Given the description of an element on the screen output the (x, y) to click on. 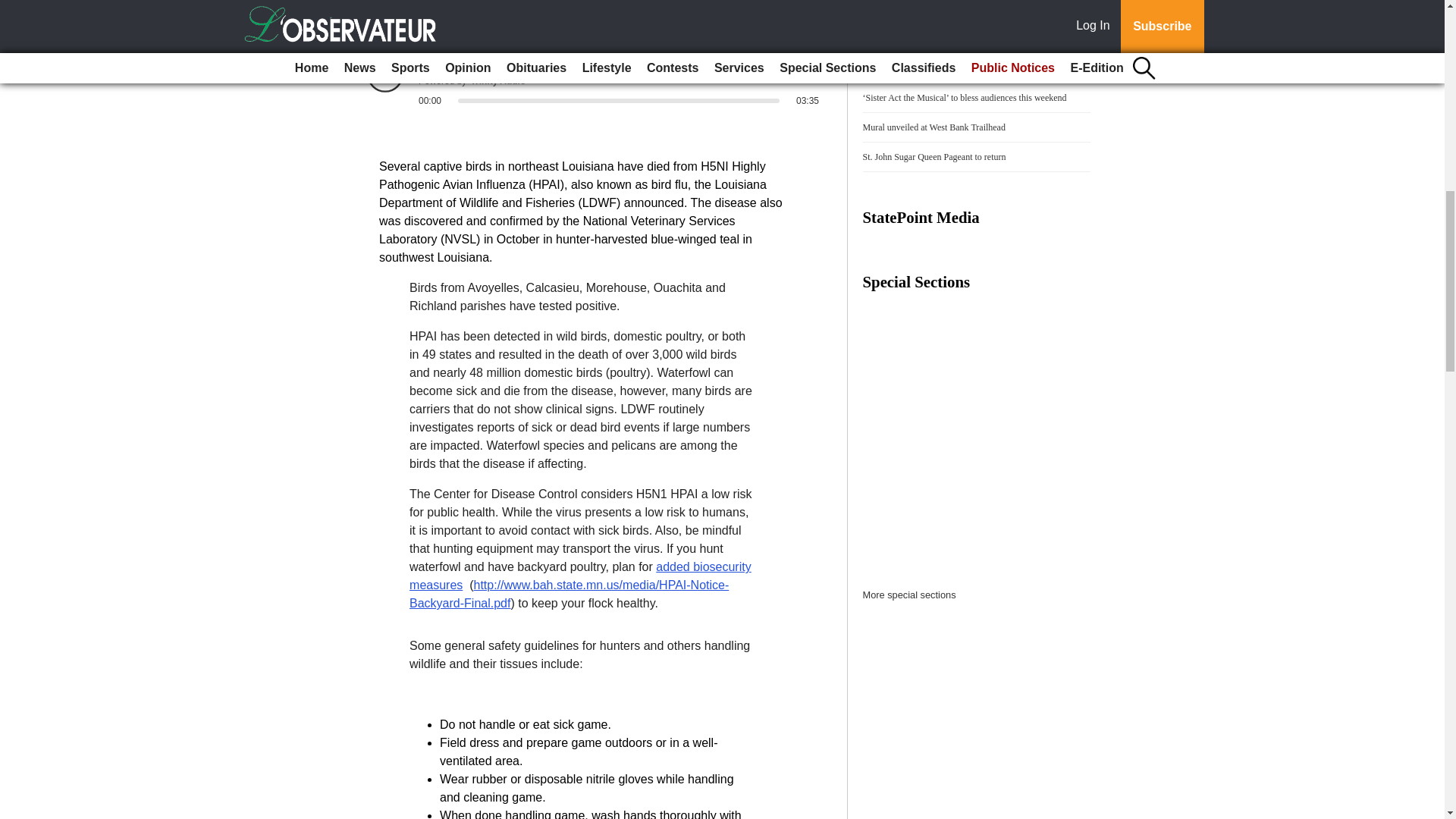
Trinity Audio Player (592, 80)
added biosecurity measures (580, 575)
